Given the description of an element on the screen output the (x, y) to click on. 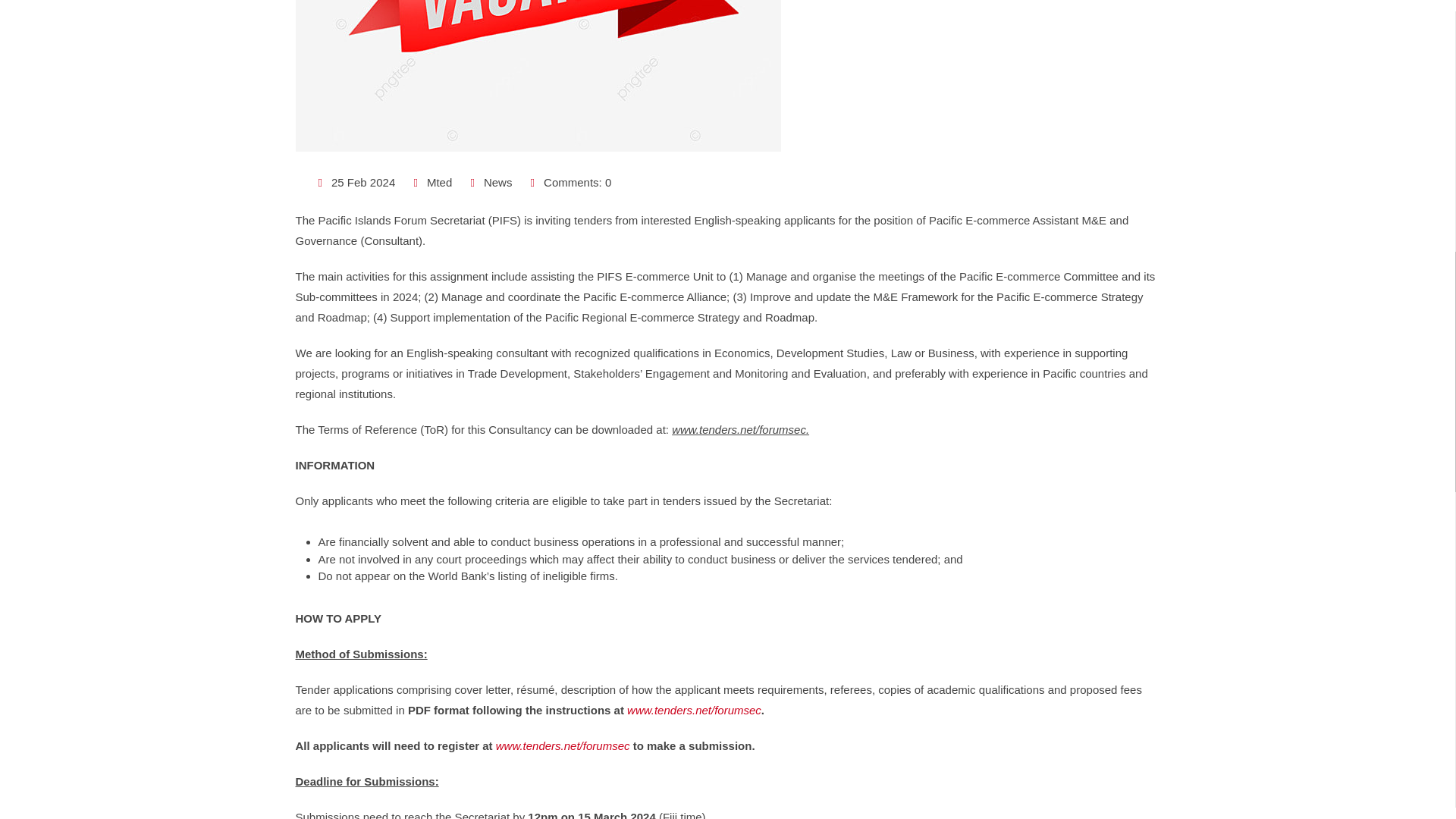
Mted (438, 182)
Comments: 0 (577, 182)
News (497, 182)
